Given the description of an element on the screen output the (x, y) to click on. 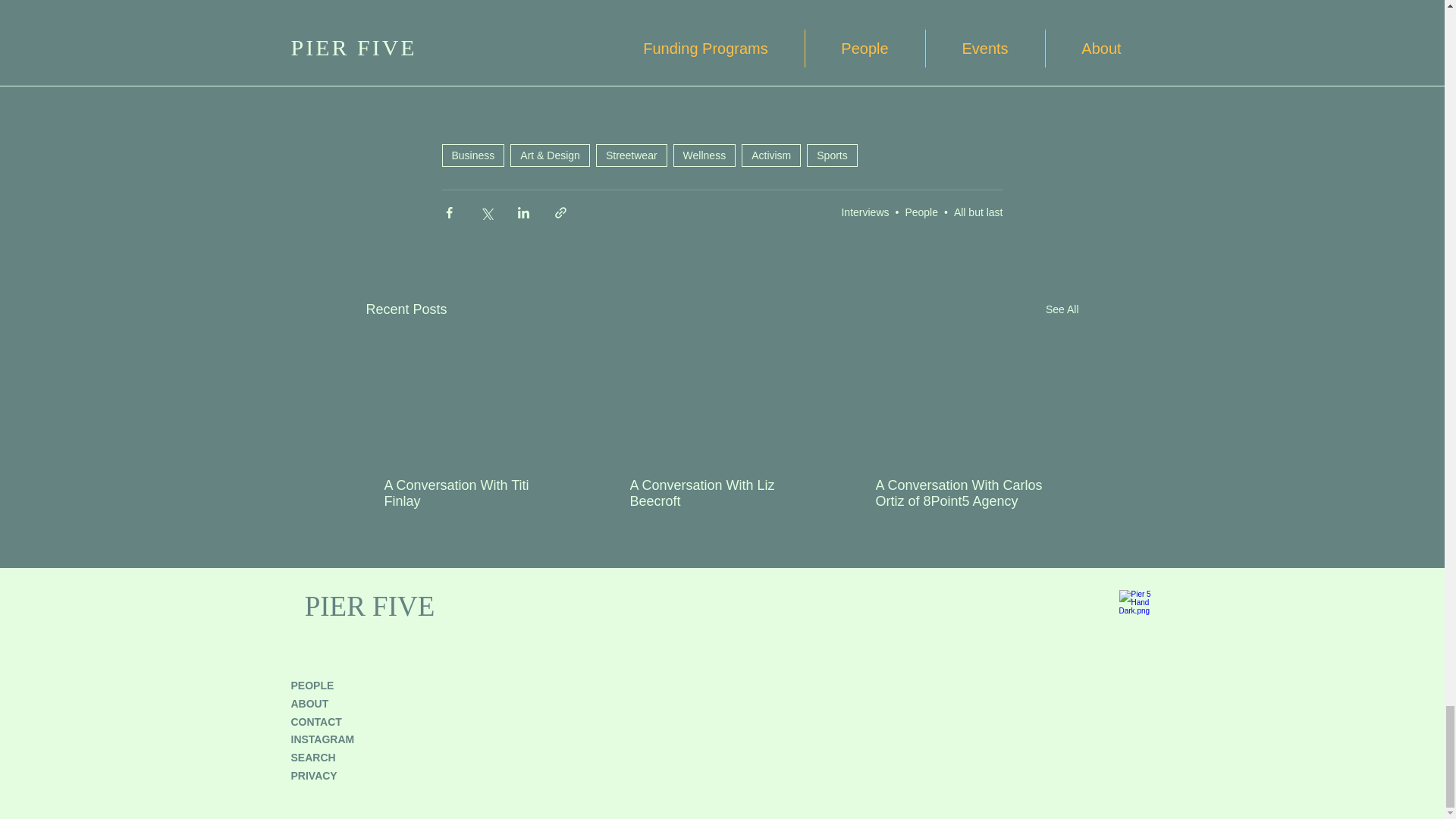
All but last (978, 212)
INSTAGRAM (323, 739)
Business (472, 155)
A Conversation With Titi Finlay (475, 493)
Olivia (523, 57)
Activism (770, 155)
A Conversation With Liz Beecroft (720, 493)
CONTACT (316, 722)
A Conversation With Carlos Ortiz of 8Point5 Agency (966, 493)
The Give and Grow  (633, 57)
